Given the description of an element on the screen output the (x, y) to click on. 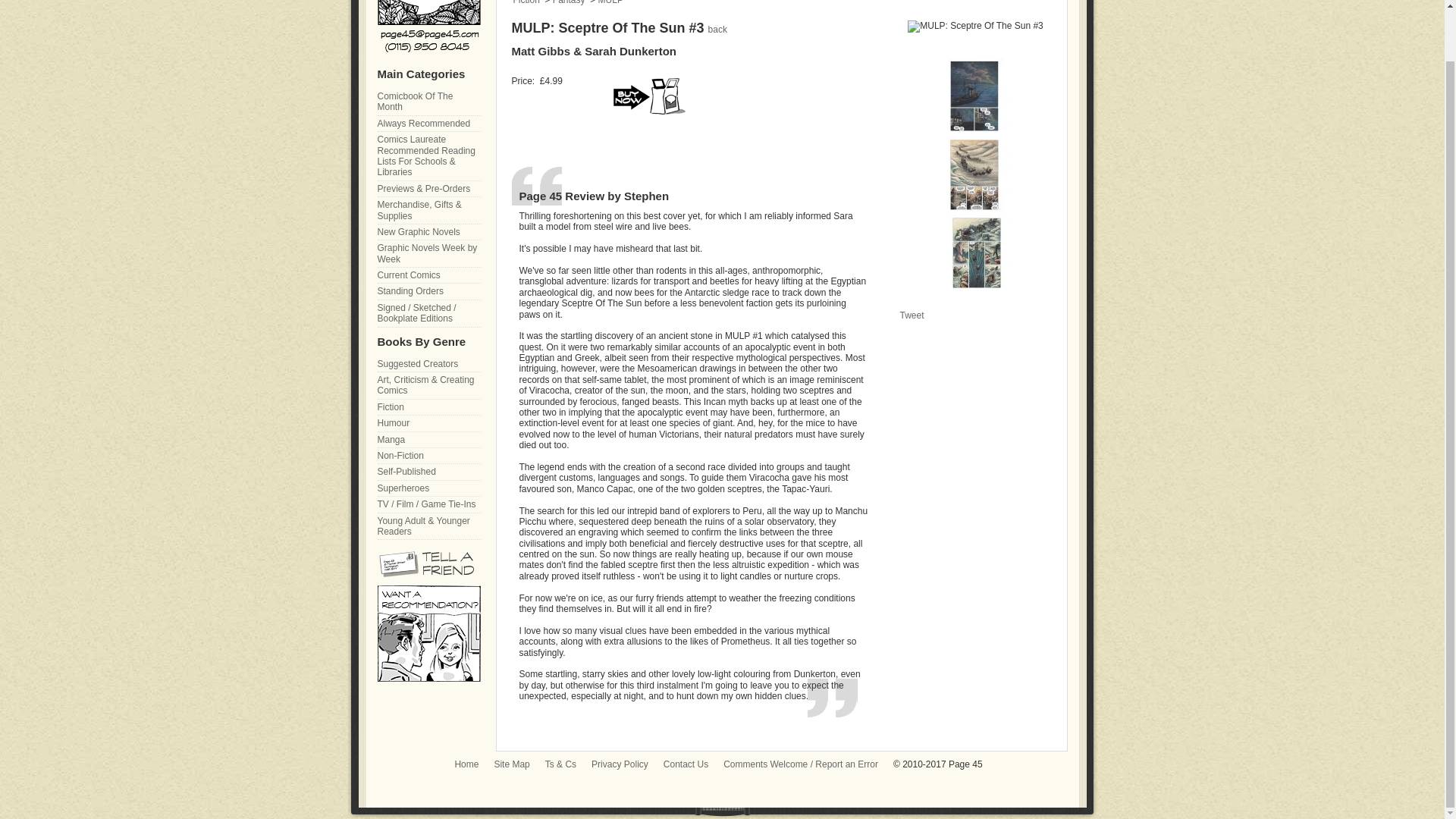
Self-Published (428, 471)
Contact Us (685, 764)
Always Recommended (428, 123)
New Graphic Novels (428, 232)
Standing Orders (428, 291)
Comicbook Of The Month (428, 102)
Fiction (525, 2)
Superheroes (428, 488)
Site Map (511, 764)
MULP (610, 2)
Tweet (911, 315)
Go back to the Page 45 Home Page (428, 26)
Fiction (428, 407)
Privacy Policy (619, 764)
Suggested Creators (428, 364)
